Given the description of an element on the screen output the (x, y) to click on. 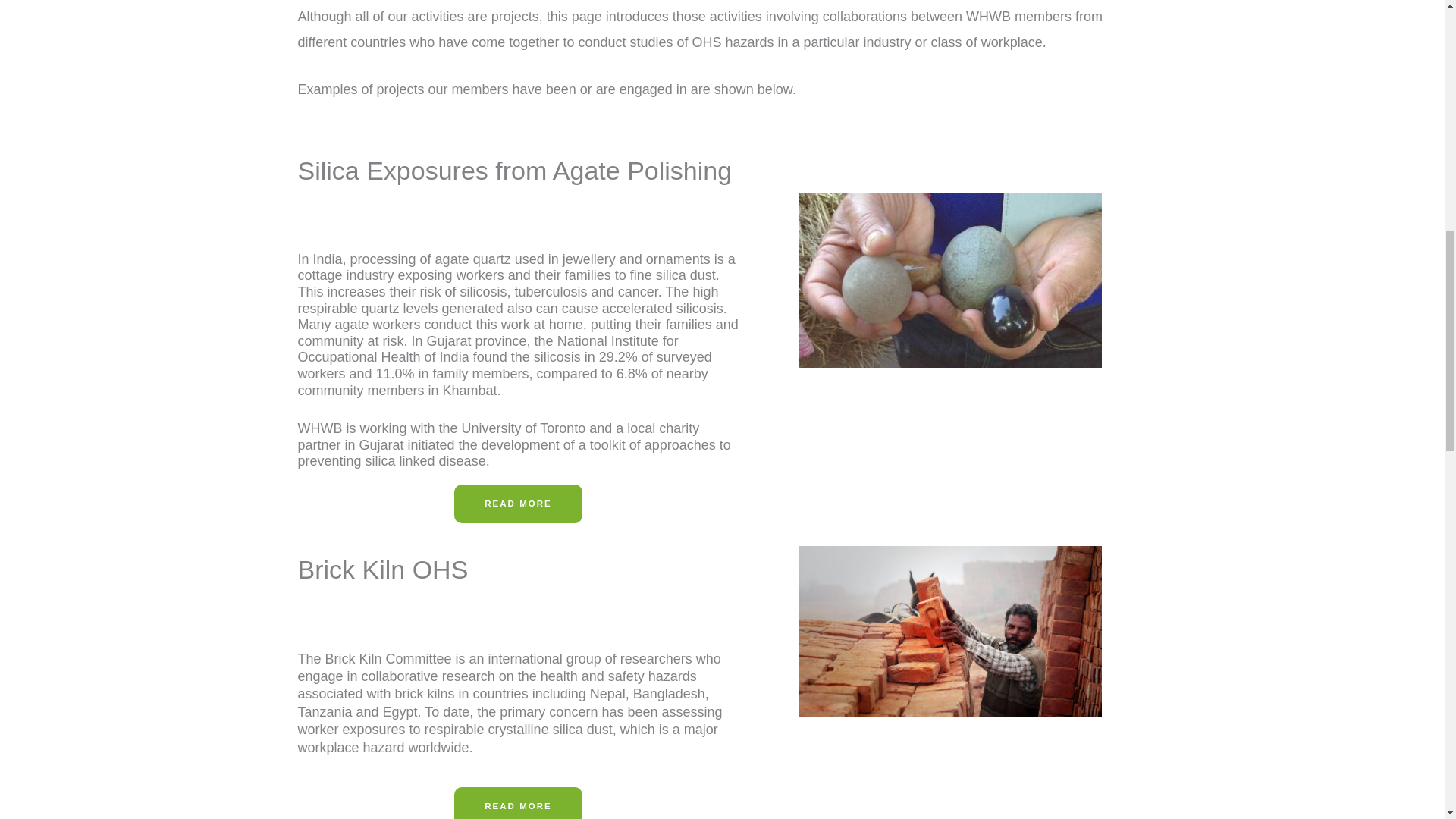
READ MORE (518, 504)
READ MORE (518, 803)
